Given the description of an element on the screen output the (x, y) to click on. 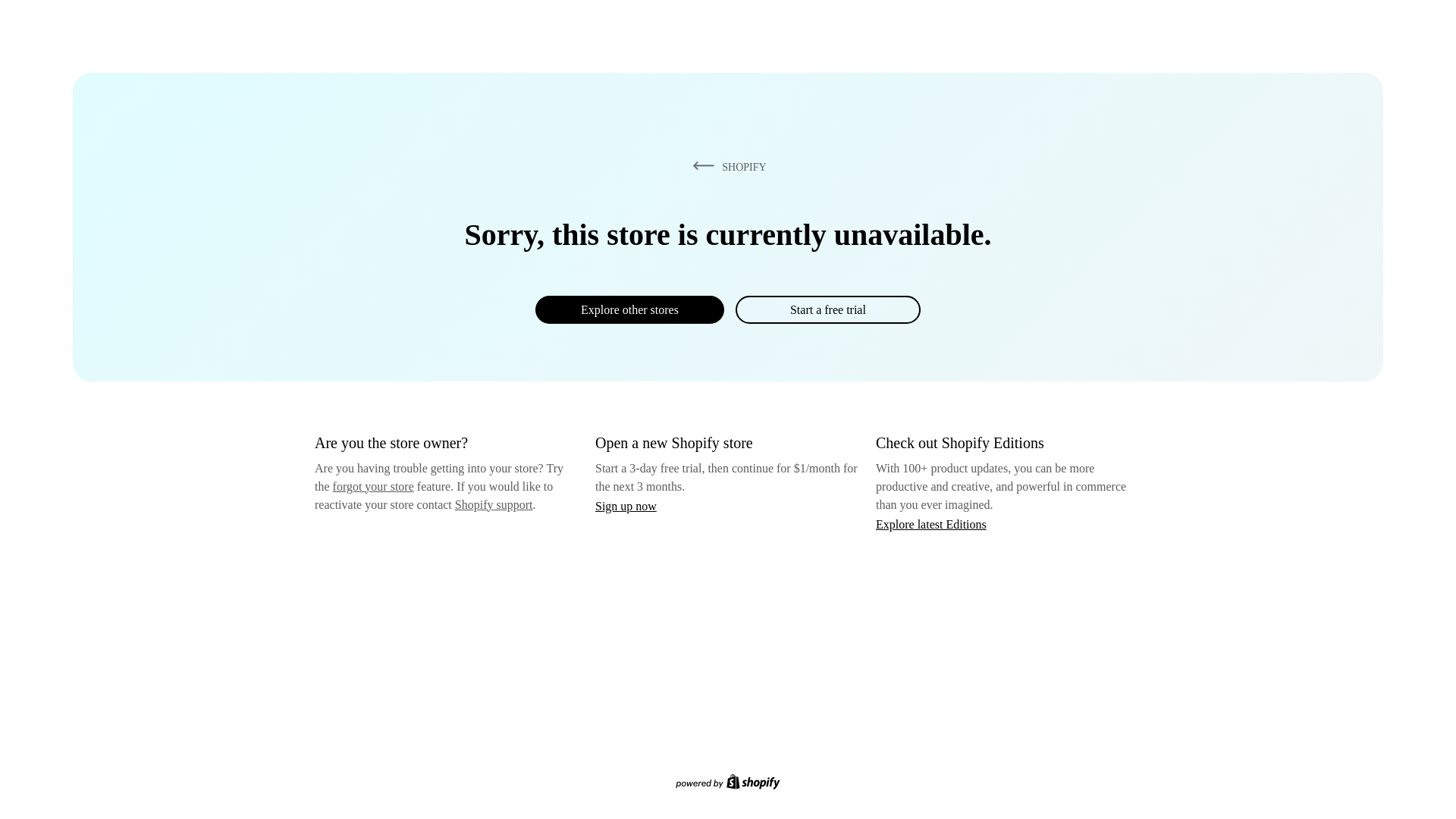
forgot your store (373, 486)
Explore latest Editions (931, 523)
Explore other stores (629, 309)
Shopify support (493, 504)
SHOPIFY (726, 166)
Sign up now (625, 505)
Start a free trial (827, 309)
